Given the description of an element on the screen output the (x, y) to click on. 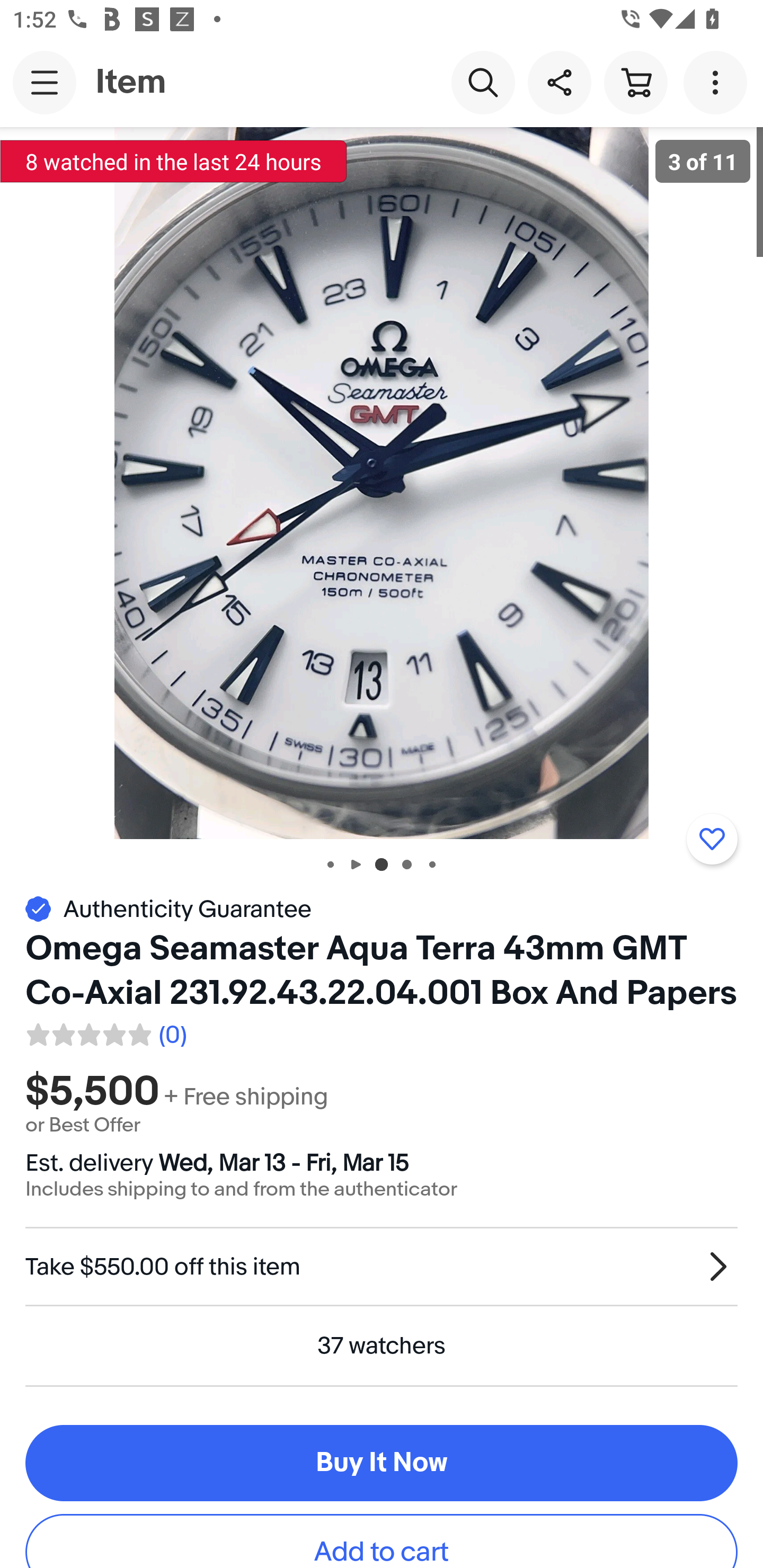
Main navigation, open (44, 82)
Search (482, 81)
Share this item (559, 81)
Cart button shopping cart (635, 81)
More options (718, 81)
Item image 3 of 11 (381, 482)
8 watched in the last 24 hours (173, 161)
Add to watchlist (711, 838)
0 reviews. Average rating 0.0 out of five 0.0 (0) (105, 1031)
Buy It Now (381, 1462)
Add to cart (381, 1541)
